Given the description of an element on the screen output the (x, y) to click on. 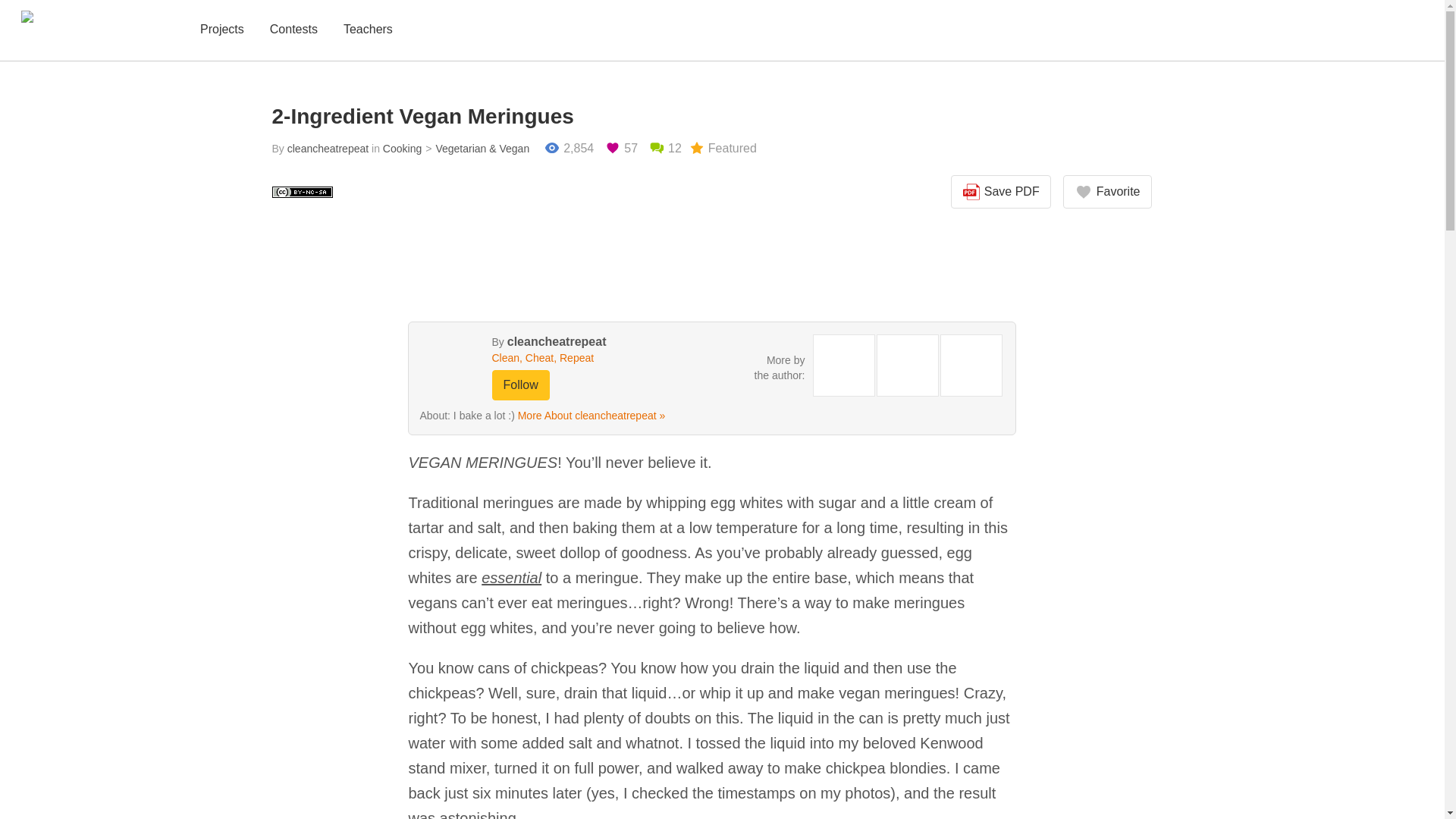
Contests (293, 30)
cleancheatrepeat (556, 341)
Cooking (402, 148)
Teachers (368, 30)
12 (665, 148)
Projects (221, 30)
Follow (520, 385)
Save PDF (1000, 191)
Clean, Cheat, Repeat (570, 358)
Favorite (1106, 191)
